Given the description of an element on the screen output the (x, y) to click on. 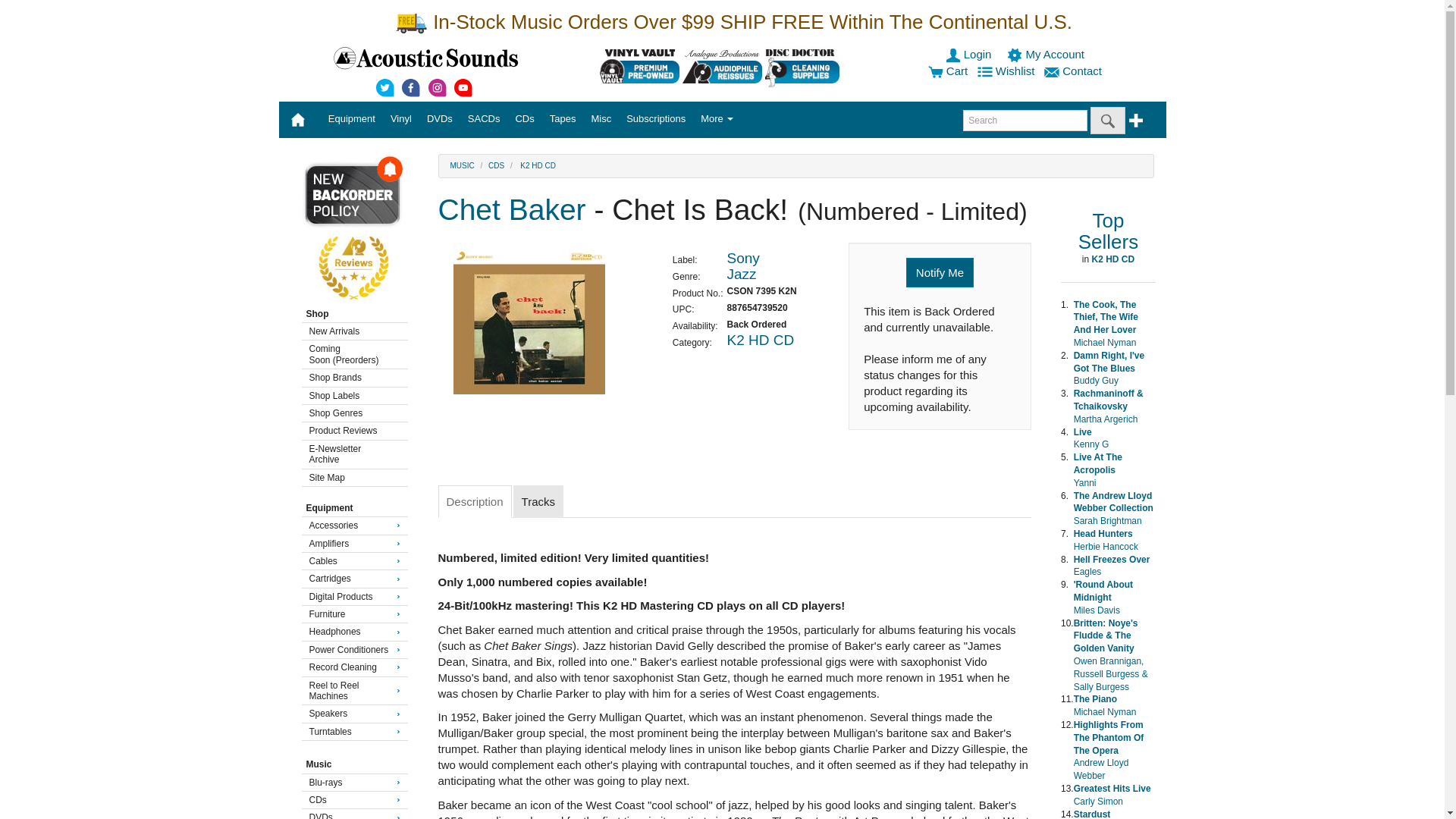
My Account (1047, 53)
Contact (1074, 70)
Cart (948, 70)
My Account (1047, 53)
Wishlist (1007, 70)
Wishlist (1007, 70)
Equipment (351, 118)
Used Vinyl Records (639, 65)
Analogue Productions (721, 65)
Disc Doctor Vinyl Cleaning Supplies (804, 65)
Login (969, 53)
Music (461, 165)
contact (1074, 70)
